Given the description of an element on the screen output the (x, y) to click on. 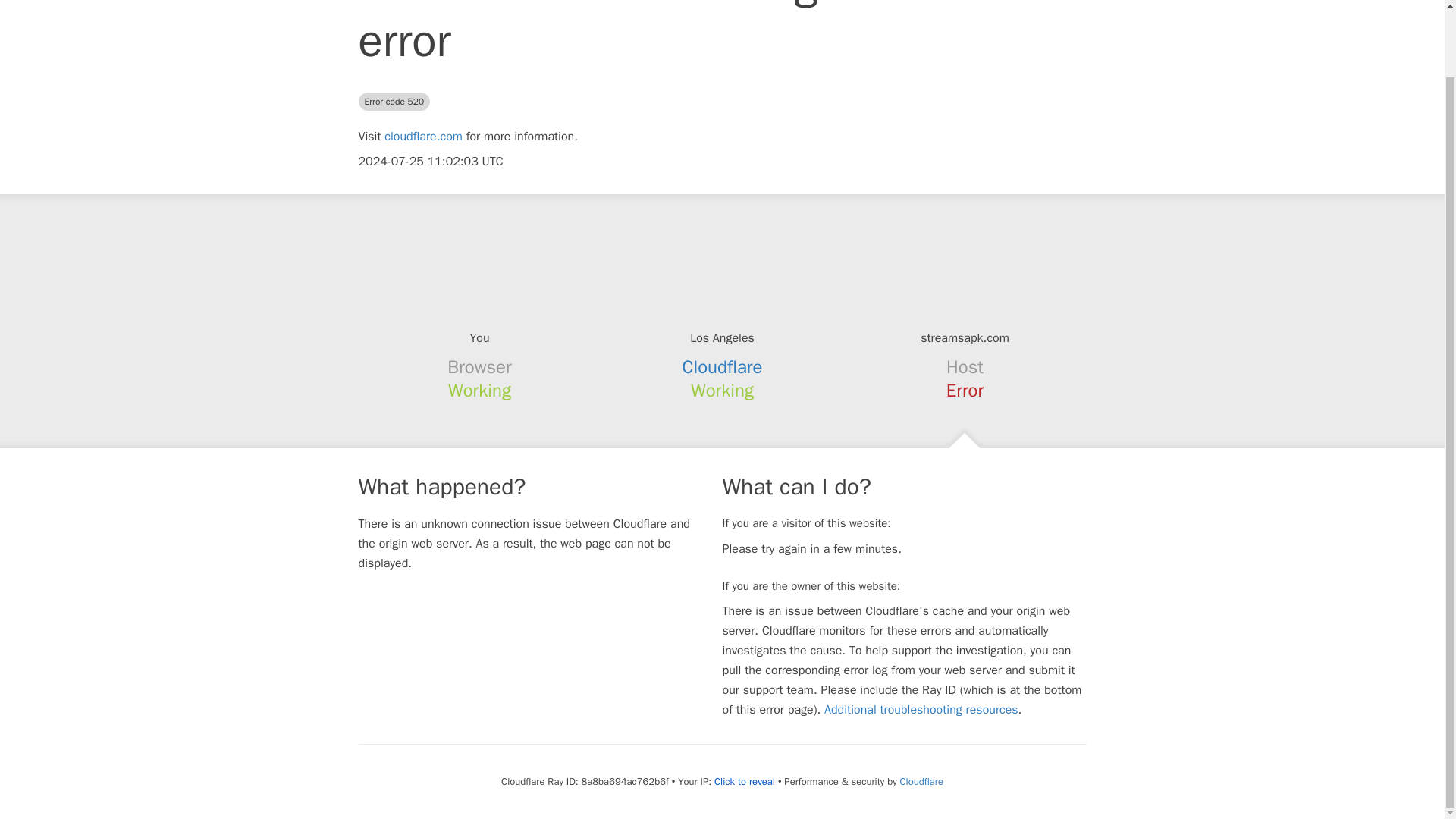
cloudflare.com (423, 136)
Cloudflare (921, 780)
Click to reveal (744, 781)
Additional troubleshooting resources (920, 709)
Cloudflare (722, 366)
